Given the description of an element on the screen output the (x, y) to click on. 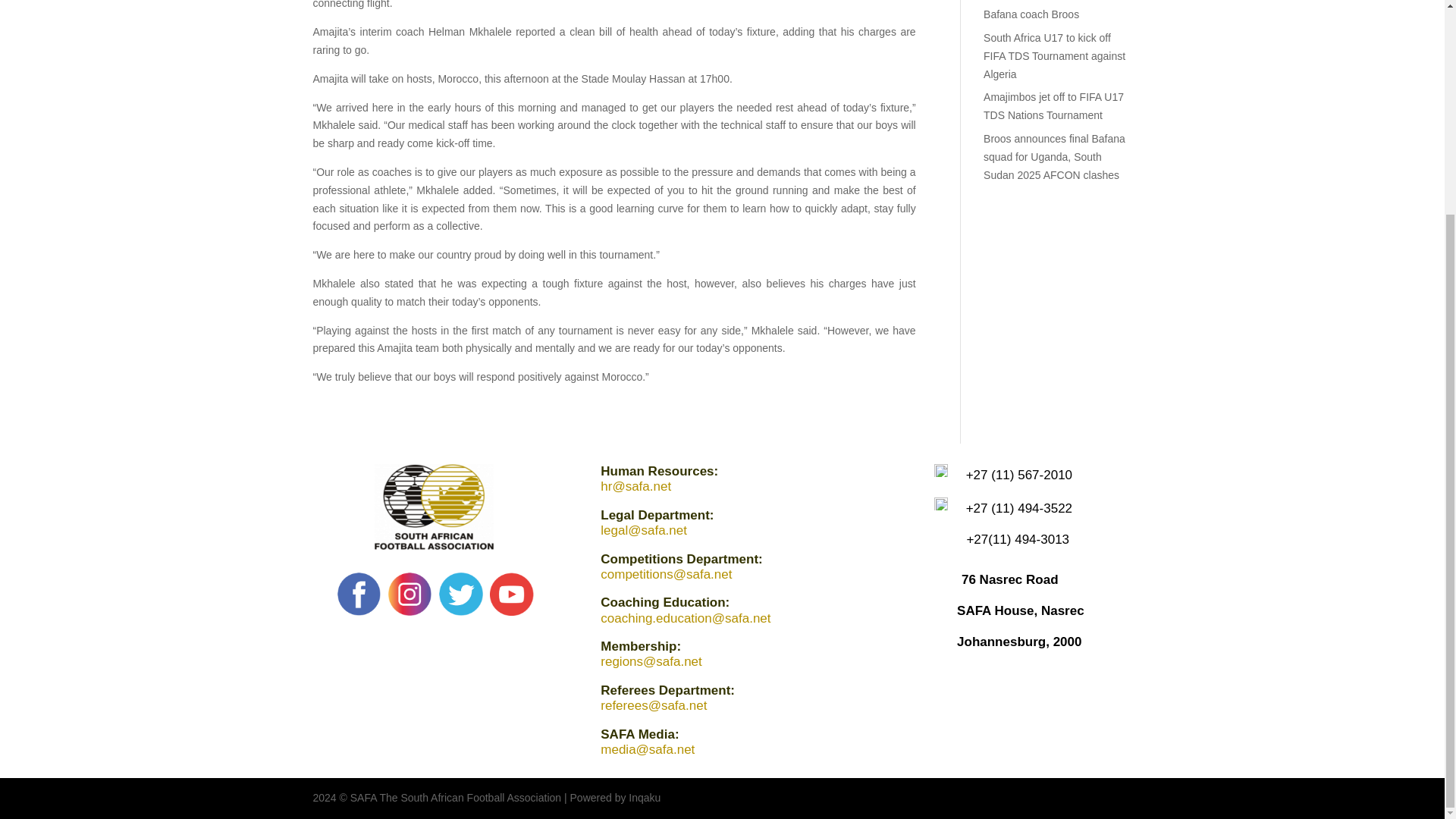
Amajimbos jet off to FIFA U17 TDS Nations Tournament  (1054, 105)
76 Nasrec Road (1009, 579)
SAFA House, Nasrec (1020, 610)
Johannesburg, 2000 (1018, 641)
